Given the description of an element on the screen output the (x, y) to click on. 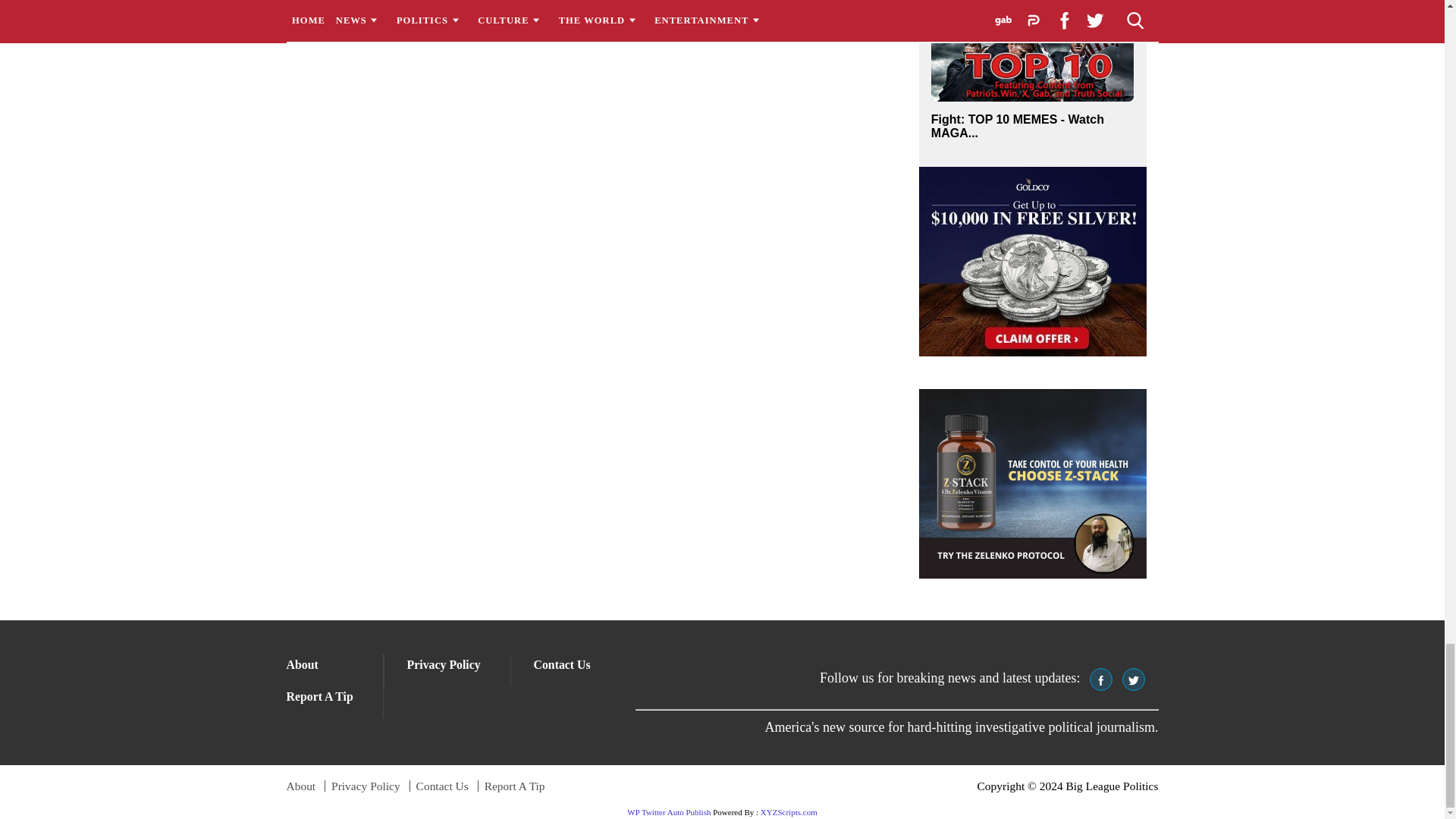
Follow us on Facebook (1100, 679)
Follow us on Twitter (1133, 679)
WP Twitter Auto Publish (668, 811)
